Given the description of an element on the screen output the (x, y) to click on. 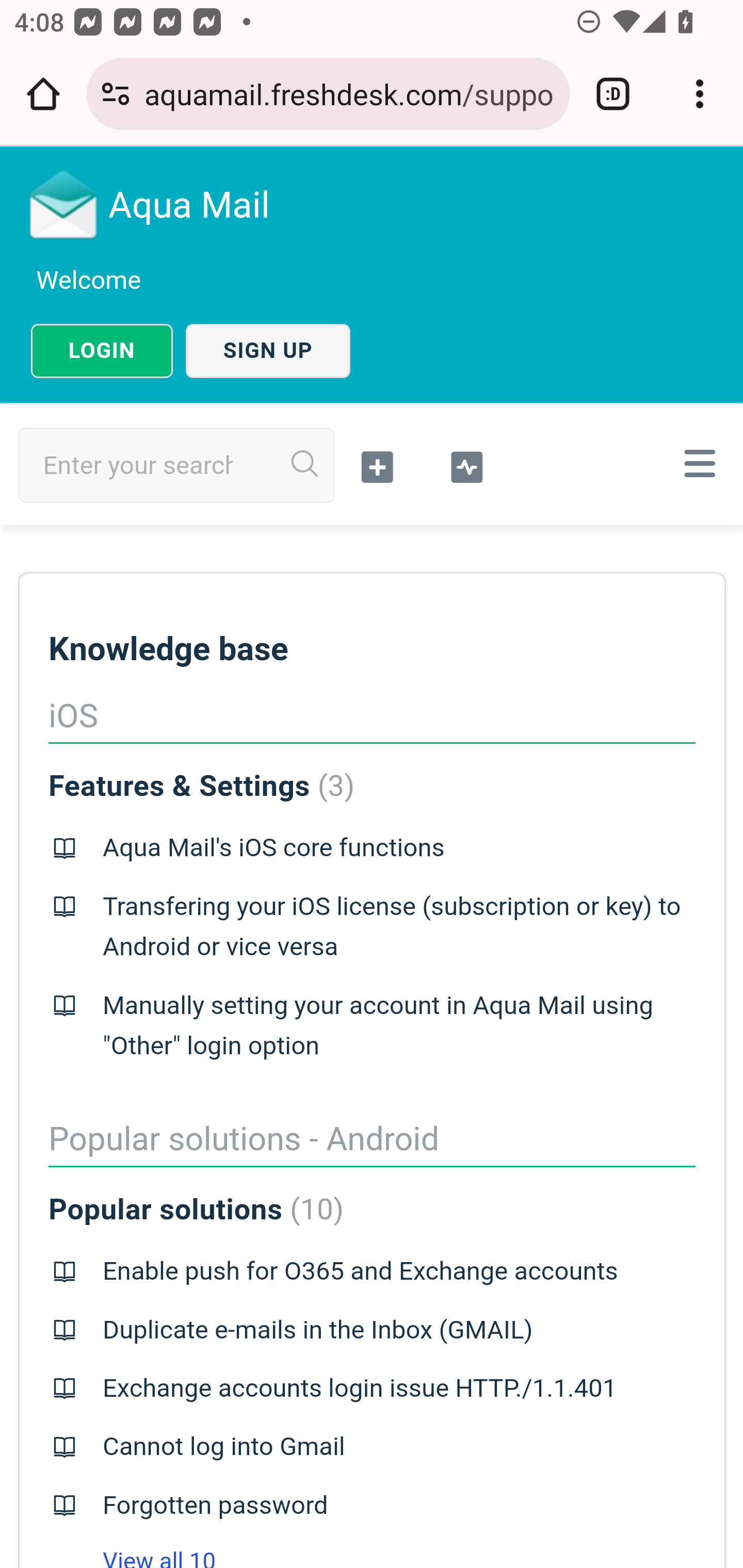
Open the home page (43, 93)
Connection is secure (115, 93)
Switch or close tabs (612, 93)
Customize and control Google Chrome (699, 93)
aquamail.freshdesk.com/support/home (349, 92)
Logo (63, 204)
LOGIN (101, 351)
SIGN UP (268, 351)
 (695, 463)
Search (305, 464)
 (377, 464)
 (466, 464)
iOS (72, 716)
Features & Settings (3) Features & Settings  ( 3 ) (200, 786)
Aqua Mail's iOS core functions (273, 847)
Popular solutions - Android (243, 1138)
Popular solutions (10) Popular solutions  ( 10 ) (195, 1209)
Enable push for O365 and Exchange accounts (359, 1271)
Duplicate e-mails in the Inbox (GMAIL) (317, 1329)
Exchange accounts login issue HTTP./1.1.401 (359, 1388)
Cannot log into Gmail (223, 1446)
Forgotten password (214, 1504)
View all 10 (131, 1557)
